Given the description of an element on the screen output the (x, y) to click on. 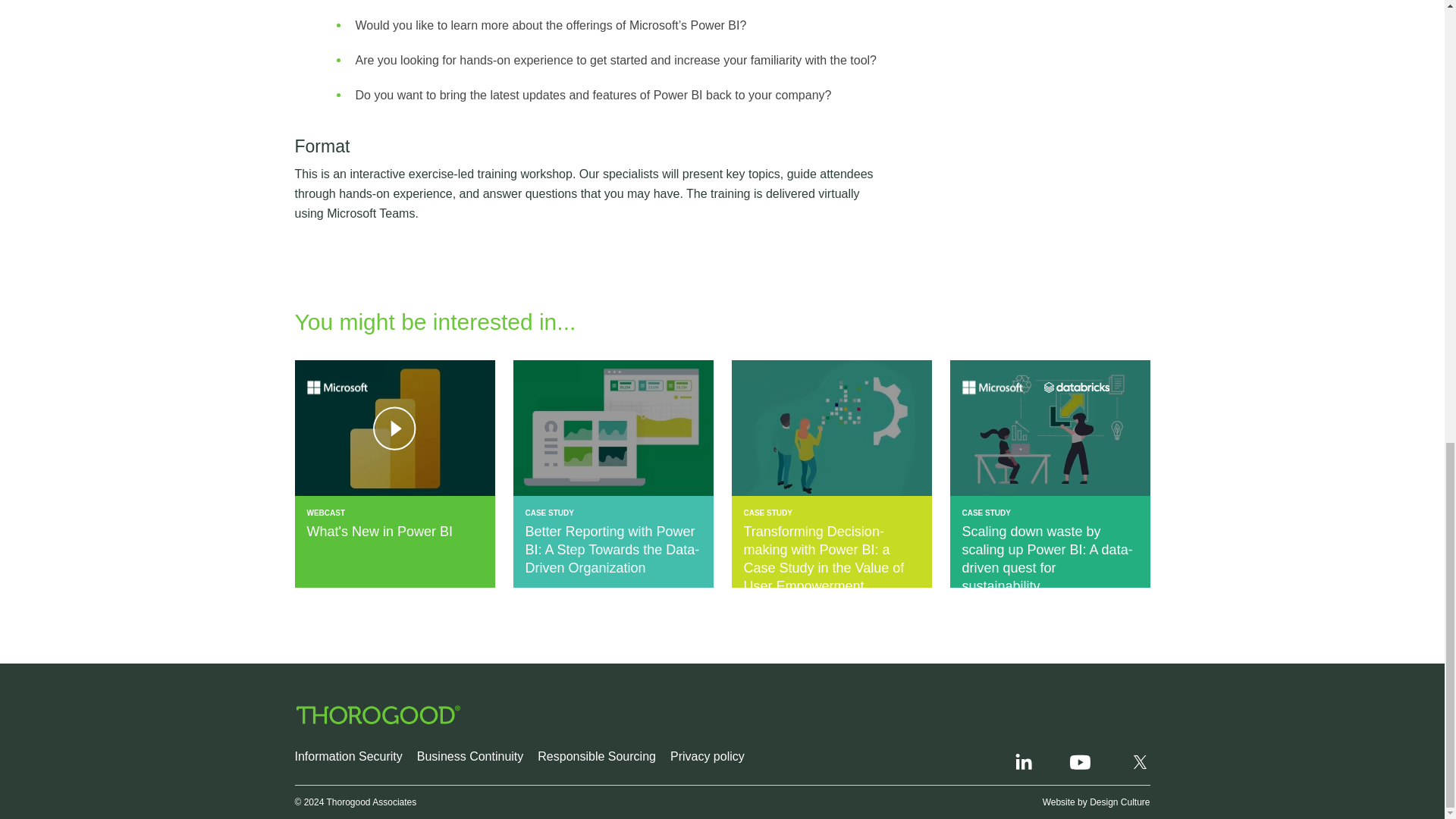
Business Continuity (470, 756)
Responsible Sourcing (596, 756)
Privacy policy (706, 756)
Design Culture (1119, 801)
Information Security (347, 756)
